Given the description of an element on the screen output the (x, y) to click on. 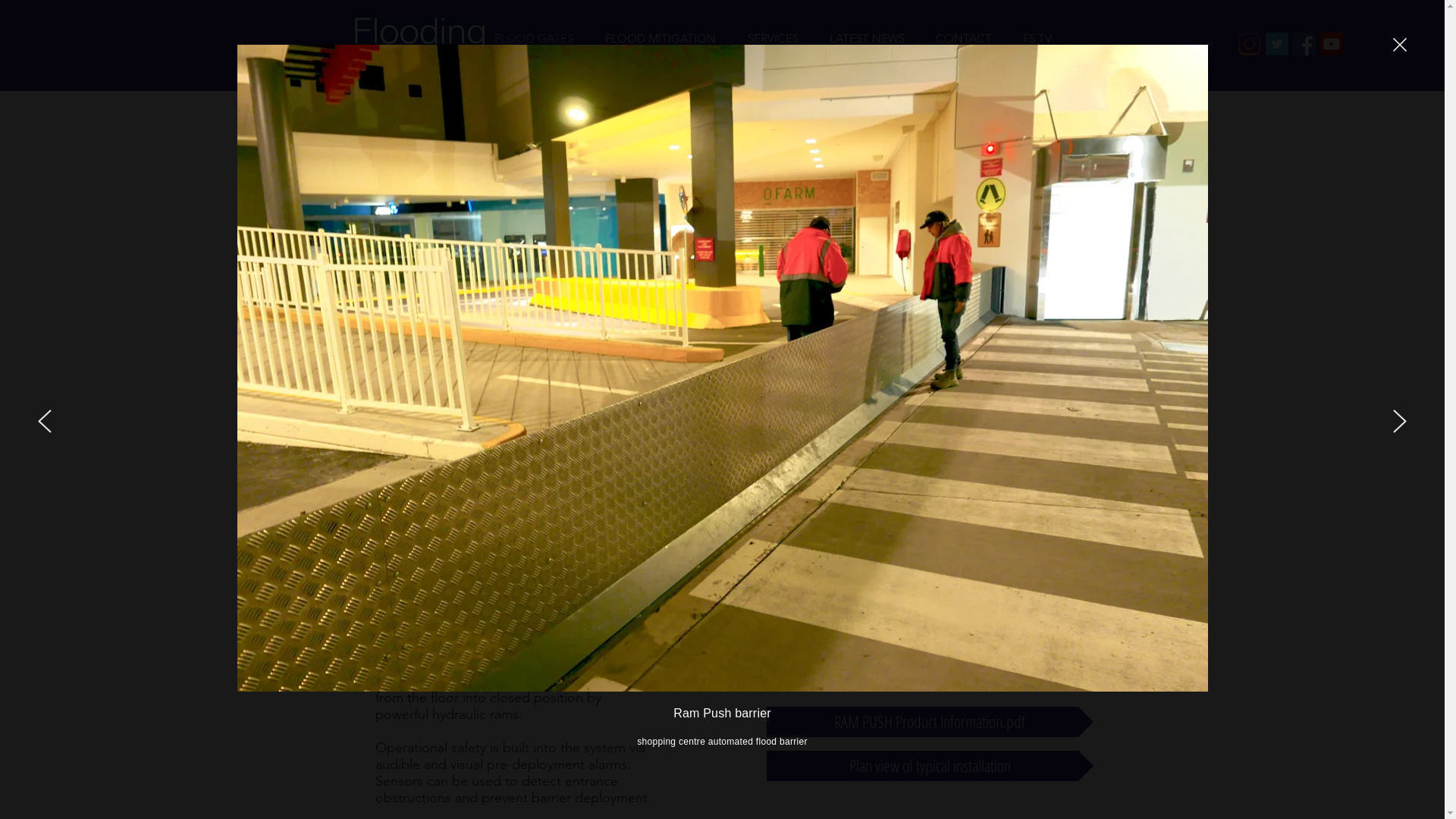
Plan view of typical installation Element type: text (928, 765)
LATEST NEWS Element type: text (867, 37)
FLOOD GATES Element type: text (532, 37)
FLOOD MITIGATION Element type: text (659, 37)
SERVICES Element type: text (772, 37)
CONTACT Element type: text (963, 37)
FS TV Element type: text (1036, 37)
RAM PUSH Product Information.pdf Element type: text (928, 721)
